Given the description of an element on the screen output the (x, y) to click on. 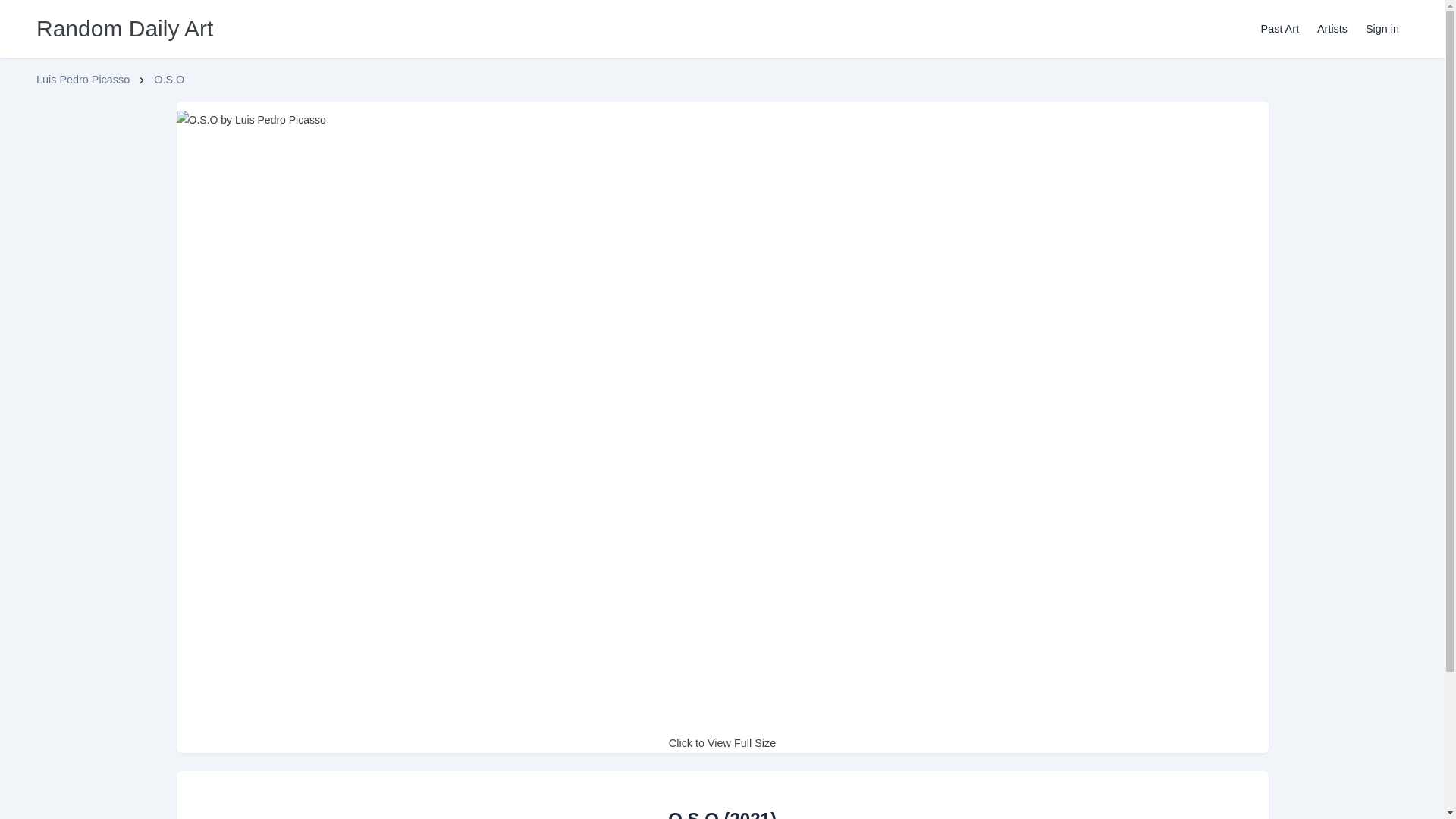
O.S.O (169, 79)
Past Art (1279, 28)
Sign in (1381, 28)
Artists (1331, 28)
Luis Pedro Picasso (82, 79)
Random Daily Art (124, 28)
